Given the description of an element on the screen output the (x, y) to click on. 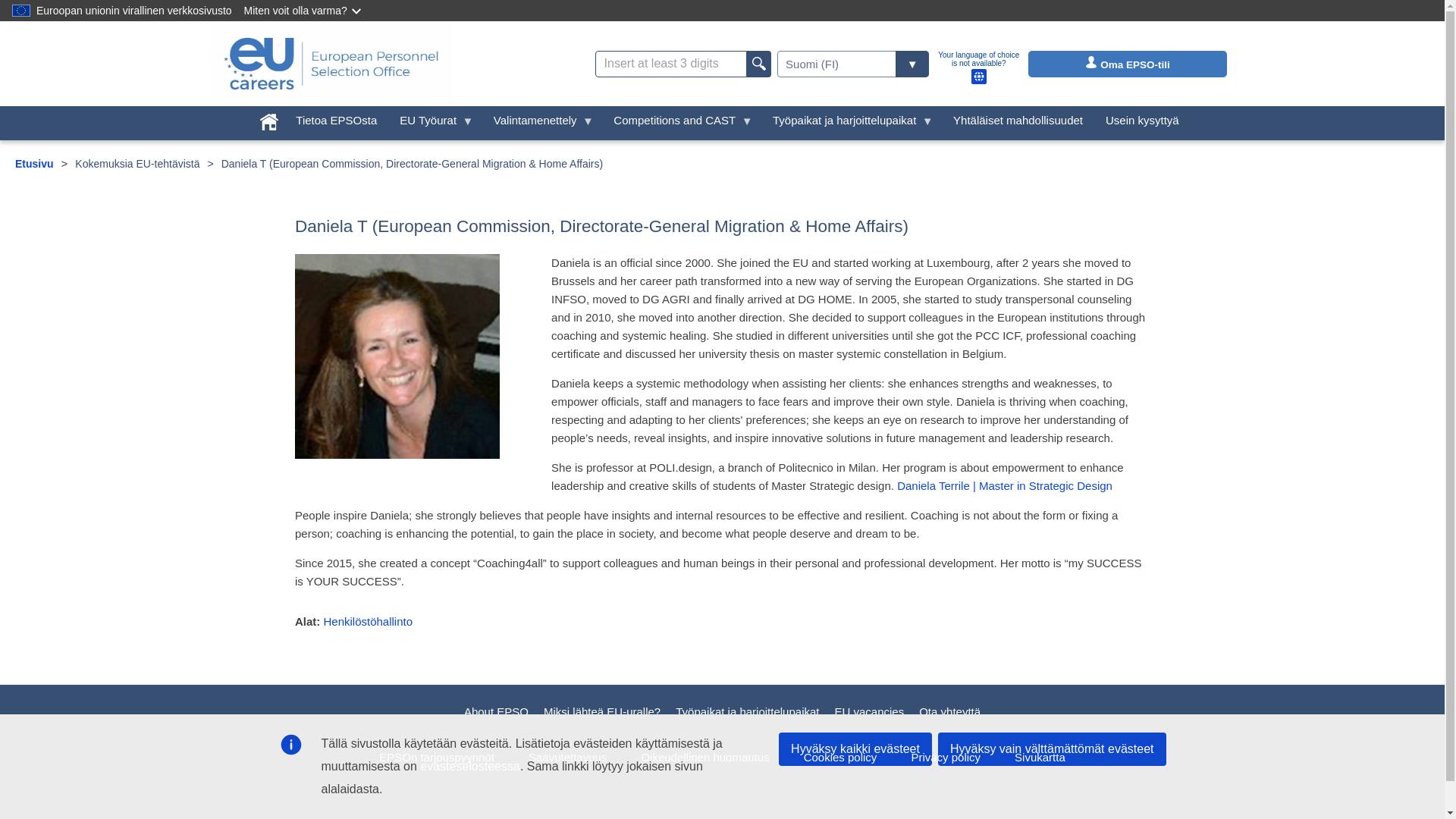
About EPSO (496, 711)
Saavutettavuus (567, 756)
Home (268, 118)
Miten voit olla varma? (303, 10)
Login (1090, 61)
Etusivu (33, 163)
. (758, 62)
EU Careers (330, 63)
Oma EPSO-tili (1126, 64)
Tietoa EPSOsta (335, 120)
